Given the description of an element on the screen output the (x, y) to click on. 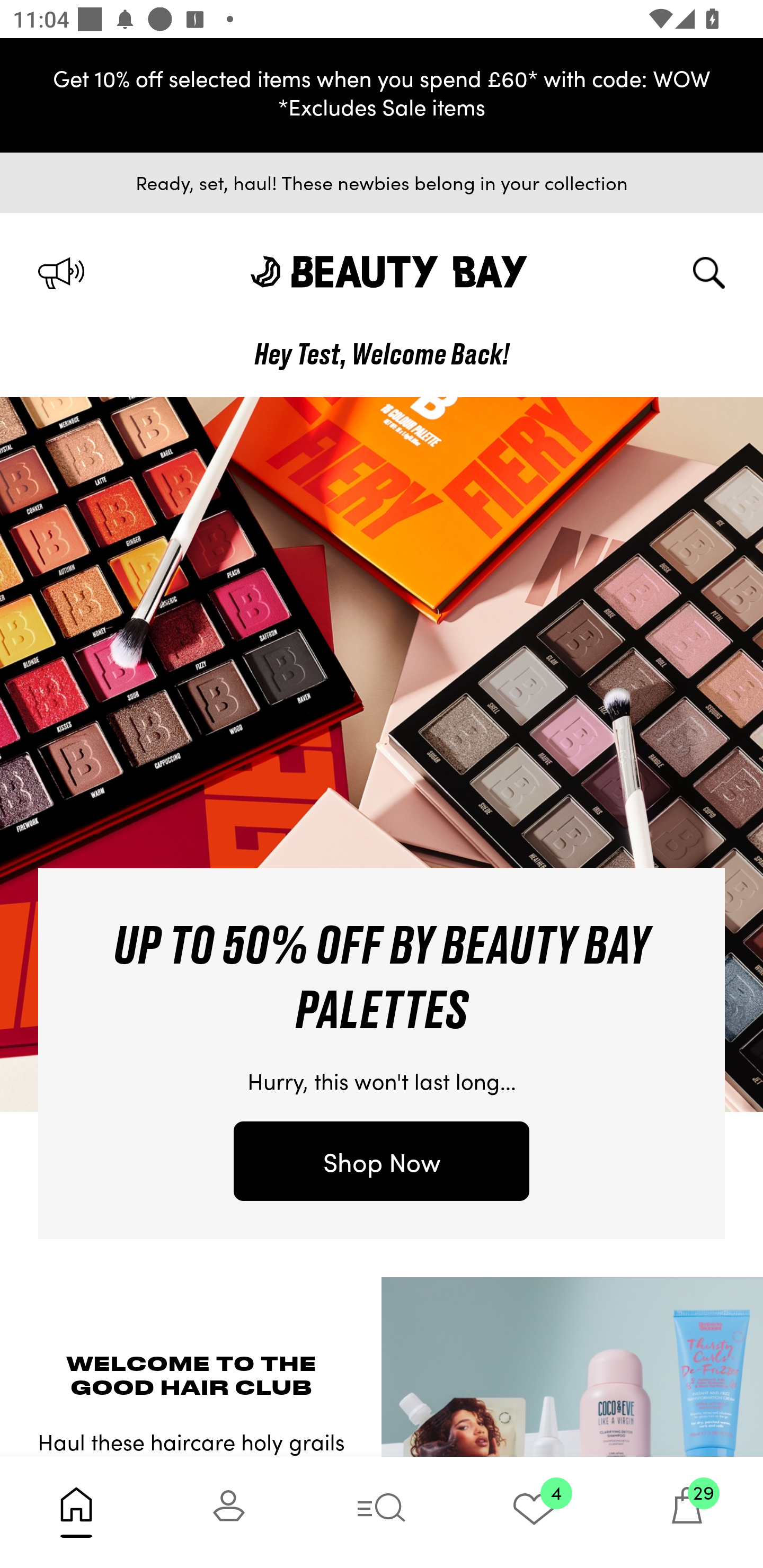
4 (533, 1512)
29 (686, 1512)
